Given the description of an element on the screen output the (x, y) to click on. 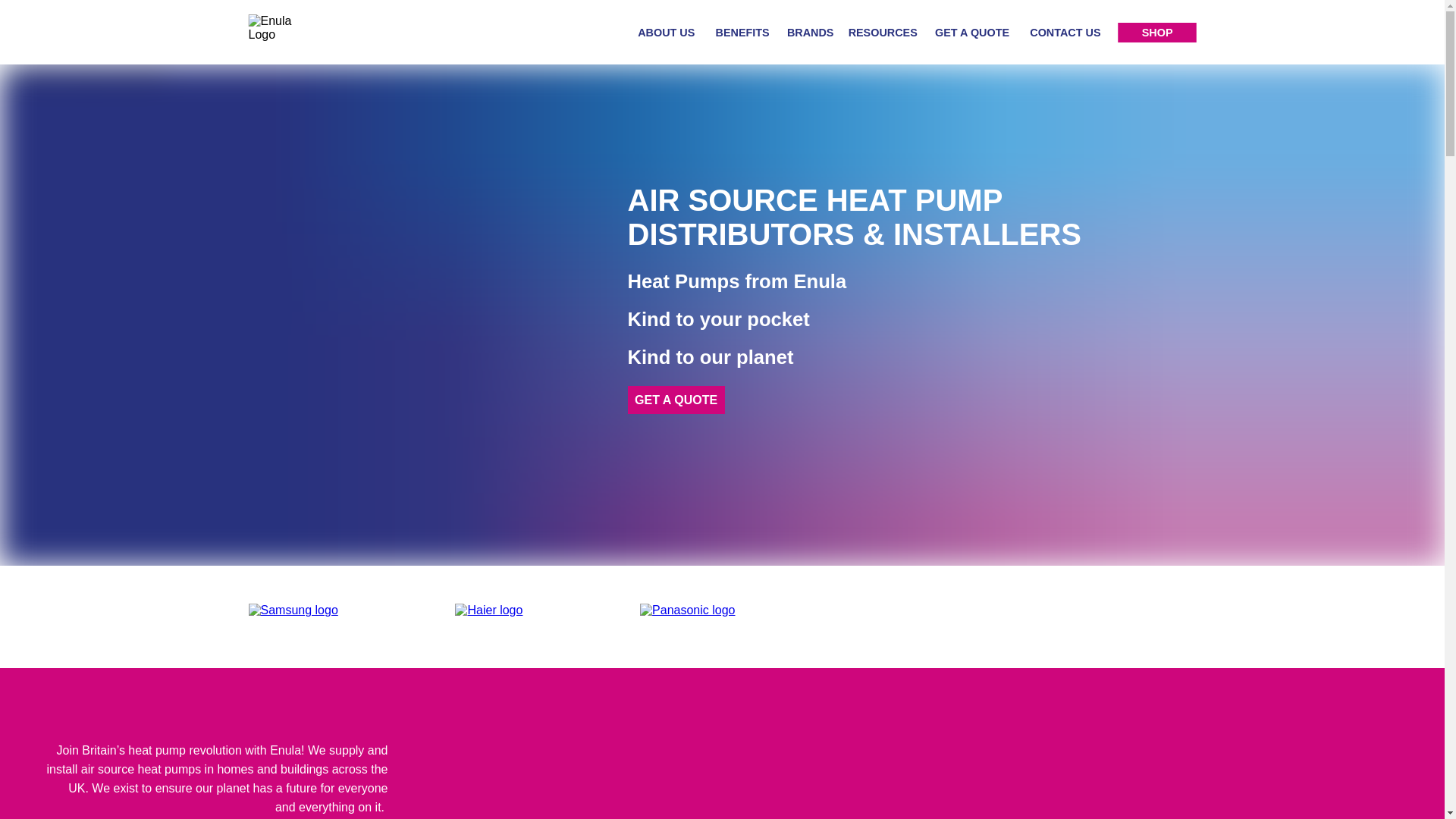
SHOP (1157, 32)
BENEFITS (743, 31)
CONTACT US (1064, 31)
ABOUT US (665, 31)
GET A QUOTE (676, 399)
GET A QUOTE (971, 31)
